Given the description of an element on the screen output the (x, y) to click on. 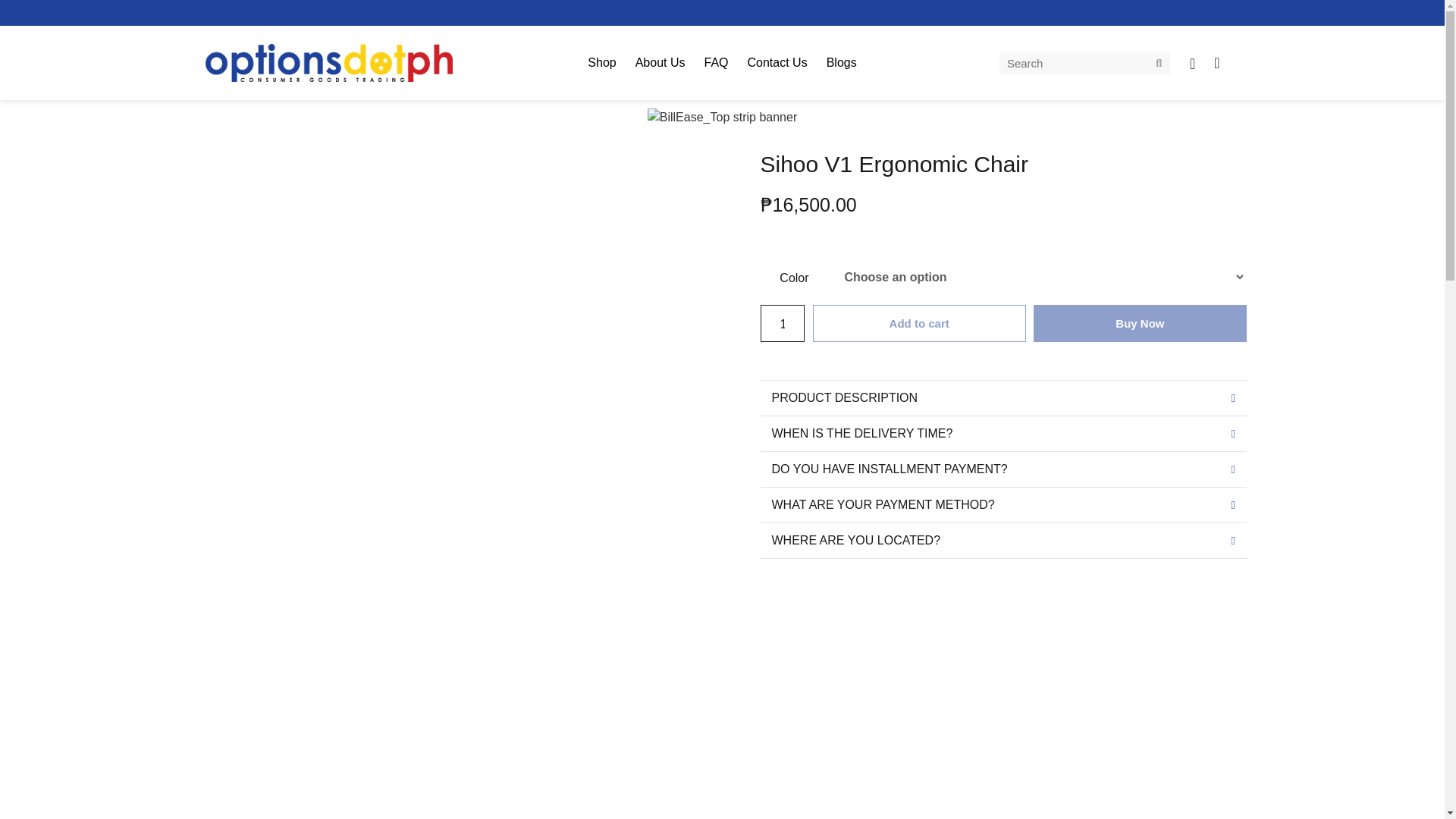
1 (781, 323)
About Us (660, 62)
Blogs (841, 62)
Shop (601, 62)
Contact Us (777, 62)
FAQ (715, 62)
